Given the description of an element on the screen output the (x, y) to click on. 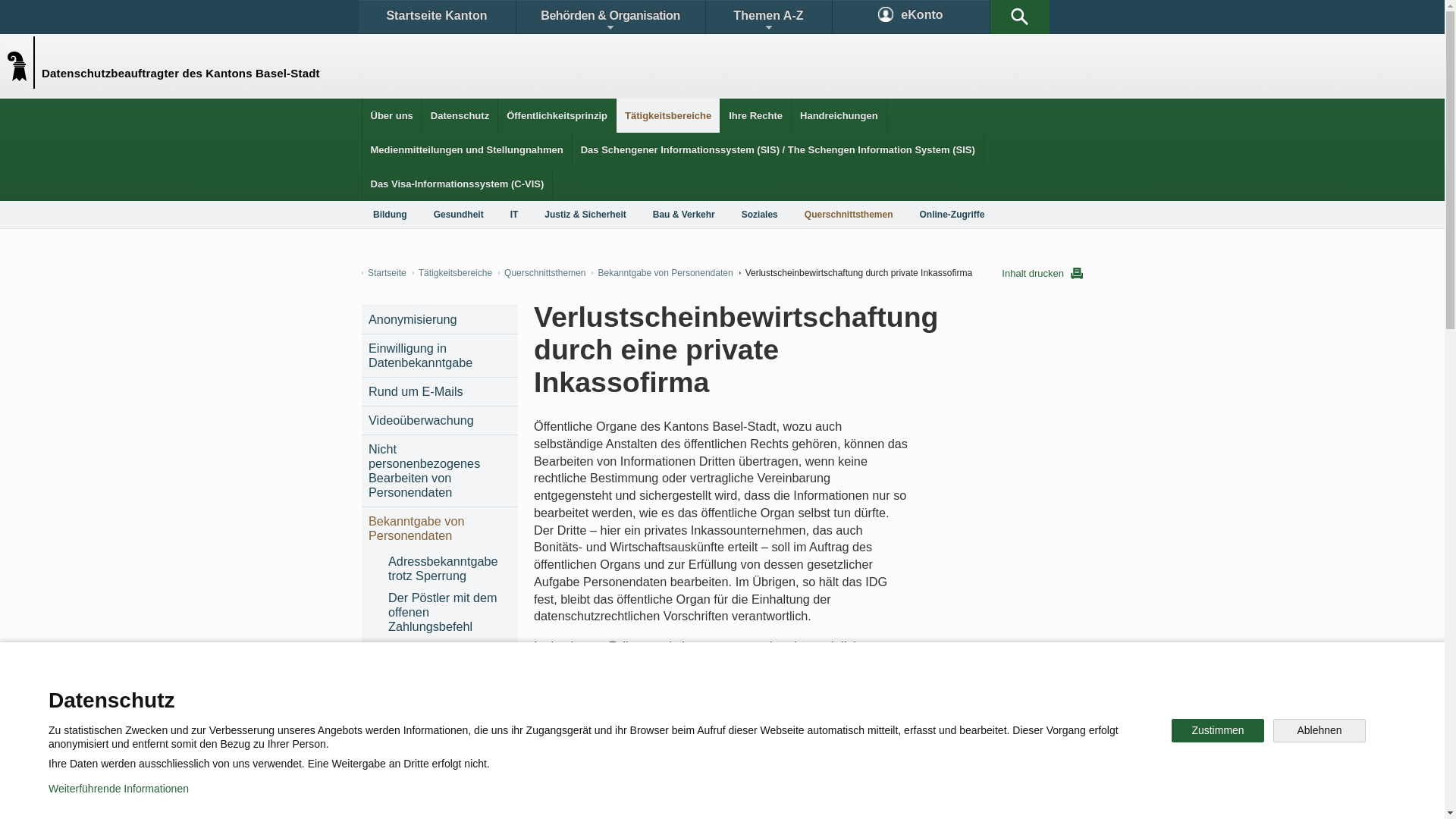
Querschnittsthemen Element type: text (541, 272)
Nutzungsregelungen Element type: text (542, 796)
Impressum Element type: text (648, 796)
Der beliebte Geschenkkoffer Element type: text (449, 655)
Bekanntgabe von Personendaten Element type: text (661, 272)
Soziales Element type: text (759, 214)
Ihre Rechte Element type: text (755, 115)
IT Element type: text (514, 214)
Startseite Kanton Element type: text (435, 17)
Anonymisierung Element type: text (439, 319)
Gesundheit Element type: text (458, 214)
Startseite Element type: text (383, 272)
Bild & Multimedia Element type: text (908, 693)
Adressbekanntgabe trotz Sperrung Element type: text (449, 568)
Justiz & Sicherheit Element type: text (585, 214)
Gesetze Element type: text (597, 693)
Bau & Verkehr Element type: text (683, 214)
Facebook Element type: text (547, 746)
Datenschutzbeauftragter des Kantons Basel-Stadt Element type: text (24, 62)
Einwilligung in Datenbekanntgabe Element type: text (439, 355)
Statistiken Element type: text (687, 693)
Querschnittsthemen Element type: text (848, 214)
Zur mobilen Ansicht Element type: text (752, 796)
Nicht personenbezogenes Bearbeiten von Personendaten Element type: text (439, 470)
Bekanntgabe von Personendaten Element type: text (439, 528)
Ablehnen Element type: text (1319, 730)
Medienmitteilungen und Stellungnahmen Element type: text (466, 149)
Twitter Element type: text (642, 746)
Inhalt drucken Element type: text (1041, 273)
Kontakt Element type: text (406, 693)
Themen A-Z Element type: text (768, 17)
Handreichungen Element type: text (838, 115)
Rund um E-Mails Element type: text (439, 391)
Publikationen Element type: text (795, 693)
Instagram Element type: text (738, 746)
Online-Zugriffe Element type: text (952, 214)
Zustimmen Element type: text (1217, 730)
Datenschutz Element type: text (459, 115)
Bildung Element type: text (389, 214)
Stadtplan & Karte Element type: text (504, 693)
Das Visa-Informationssystem (C-VIS) Element type: text (457, 183)
eKonto Element type: text (910, 17)
